Given the description of an element on the screen output the (x, y) to click on. 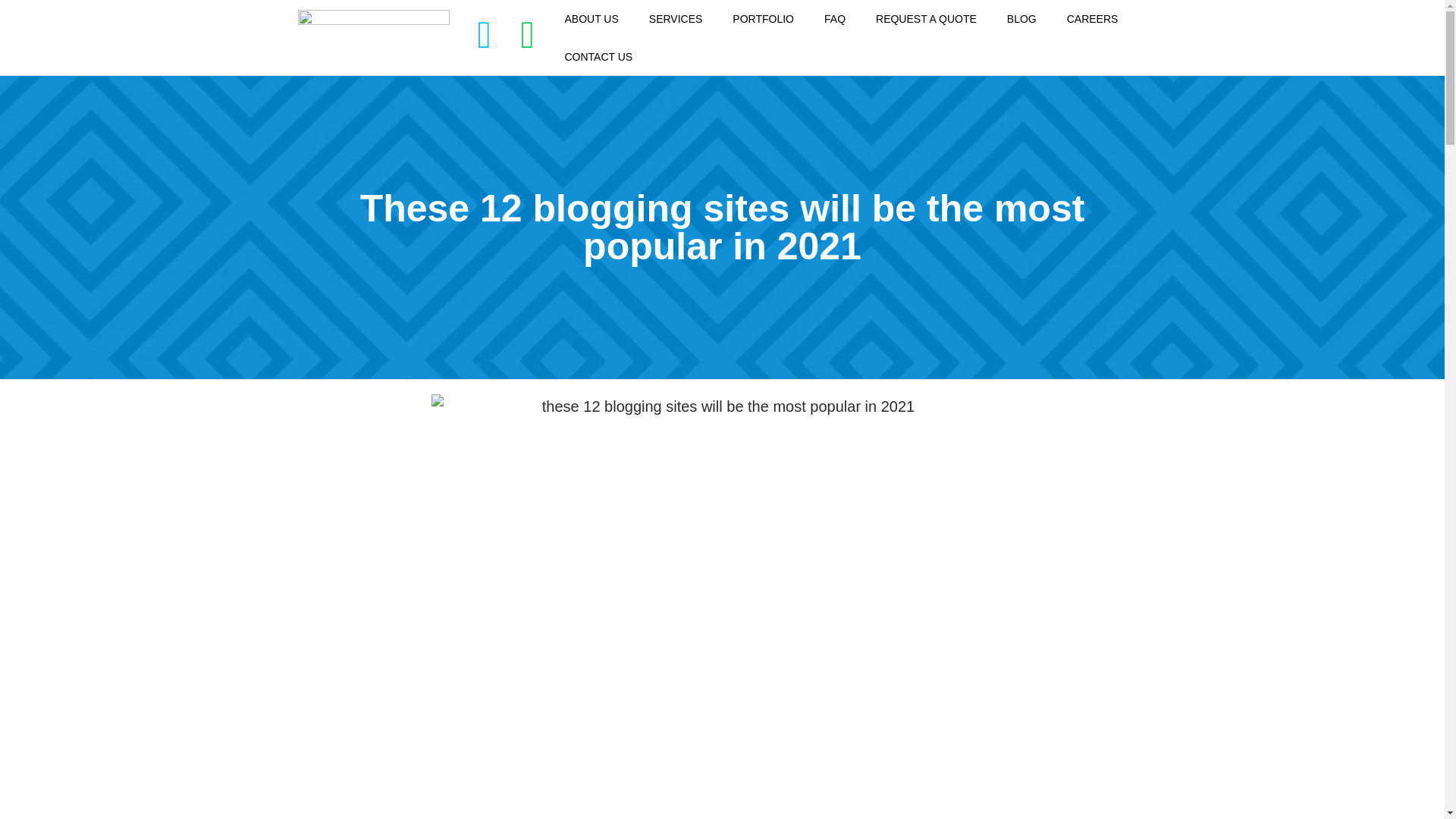
BLOG (1021, 18)
CAREERS (1092, 18)
FAQ (834, 18)
PORTFOLIO (763, 18)
REQUEST A QUOTE (925, 18)
CONTACT US (597, 56)
SERVICES (675, 18)
skip to content (11, 31)
ABOUT US (590, 18)
